Given the description of an element on the screen output the (x, y) to click on. 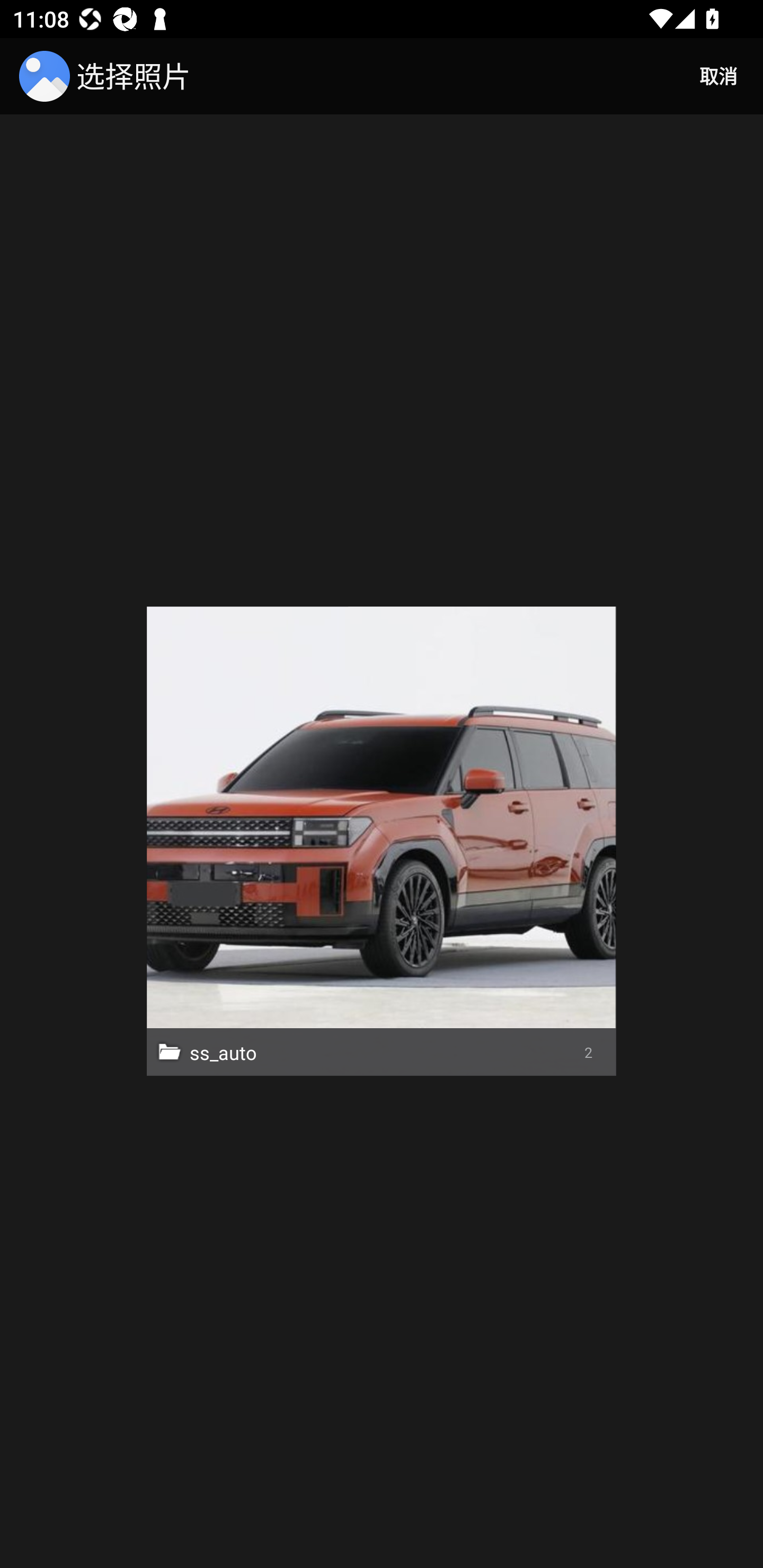
选择照片 (107, 75)
取消 (718, 75)
